Given the description of an element on the screen output the (x, y) to click on. 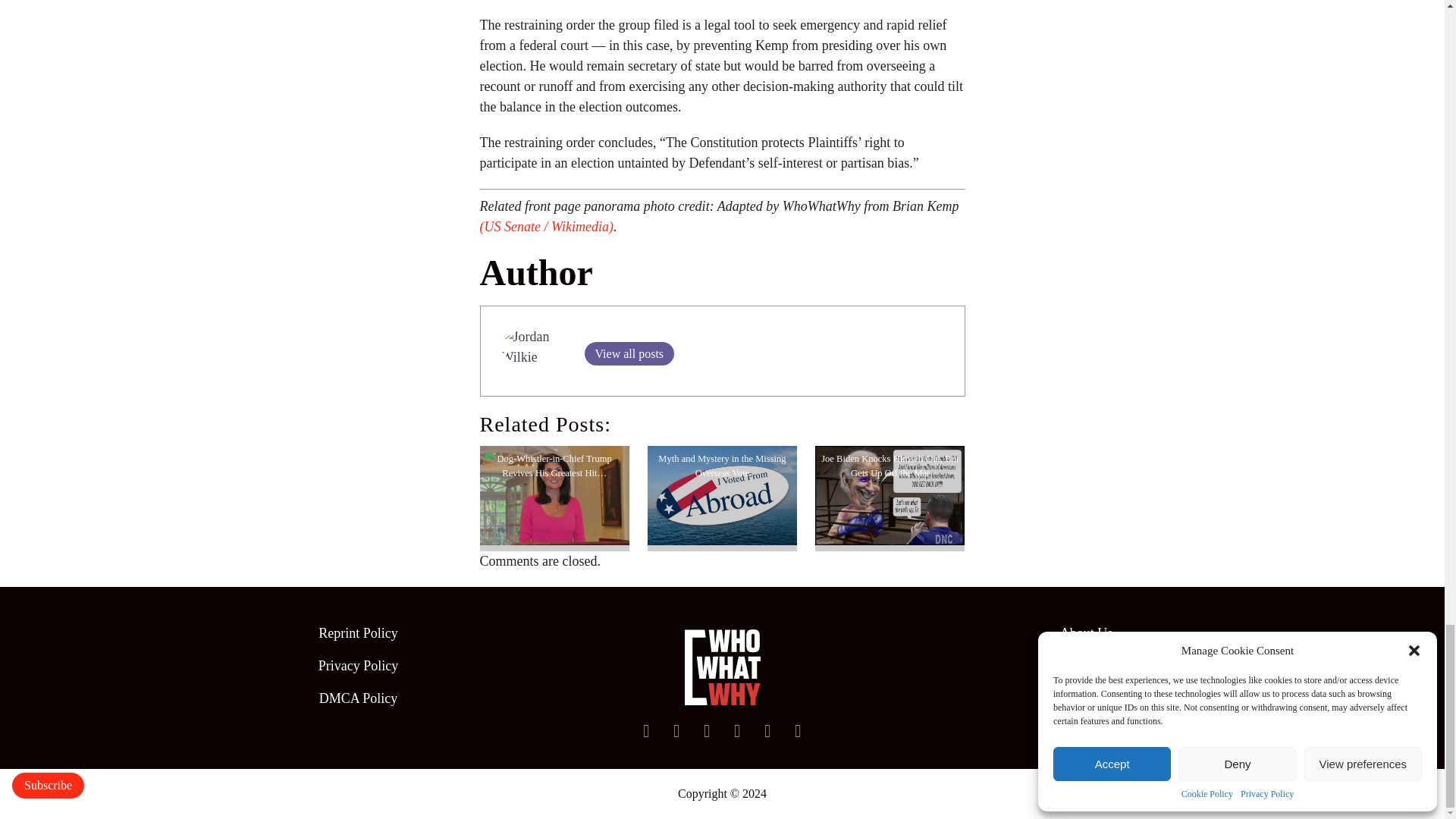
Myth and Mystery in the Missing Overseas Vote (721, 495)
View all posts (628, 353)
Joe Biden Knocks Himself Out, But Gets Up Off the Mat (889, 495)
